Given the description of an element on the screen output the (x, y) to click on. 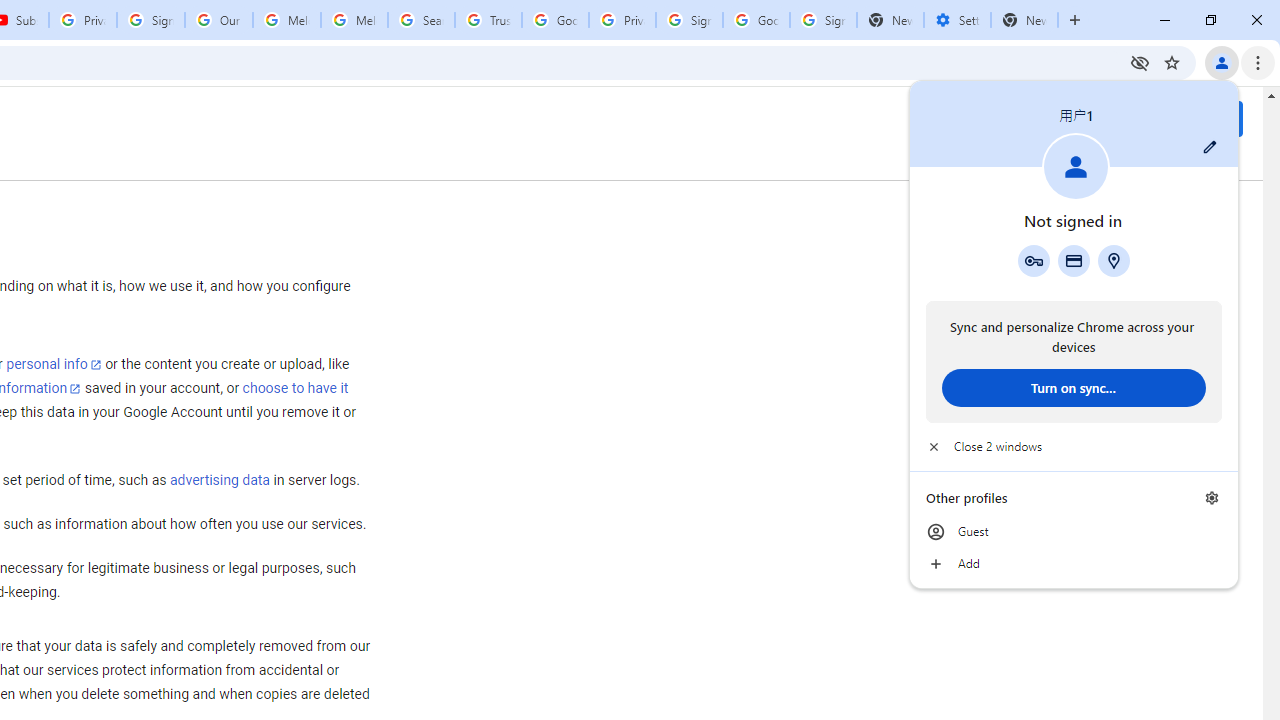
Close 2 windows (1073, 446)
Sign in - Google Accounts (689, 20)
Guest (1073, 531)
Google Cybersecurity Innovations - Google Safety Center (756, 20)
Addresses and more (1114, 260)
advertising data (219, 481)
Add (1073, 563)
Sign in - Google Accounts (823, 20)
Customize profile (1210, 147)
